Given the description of an element on the screen output the (x, y) to click on. 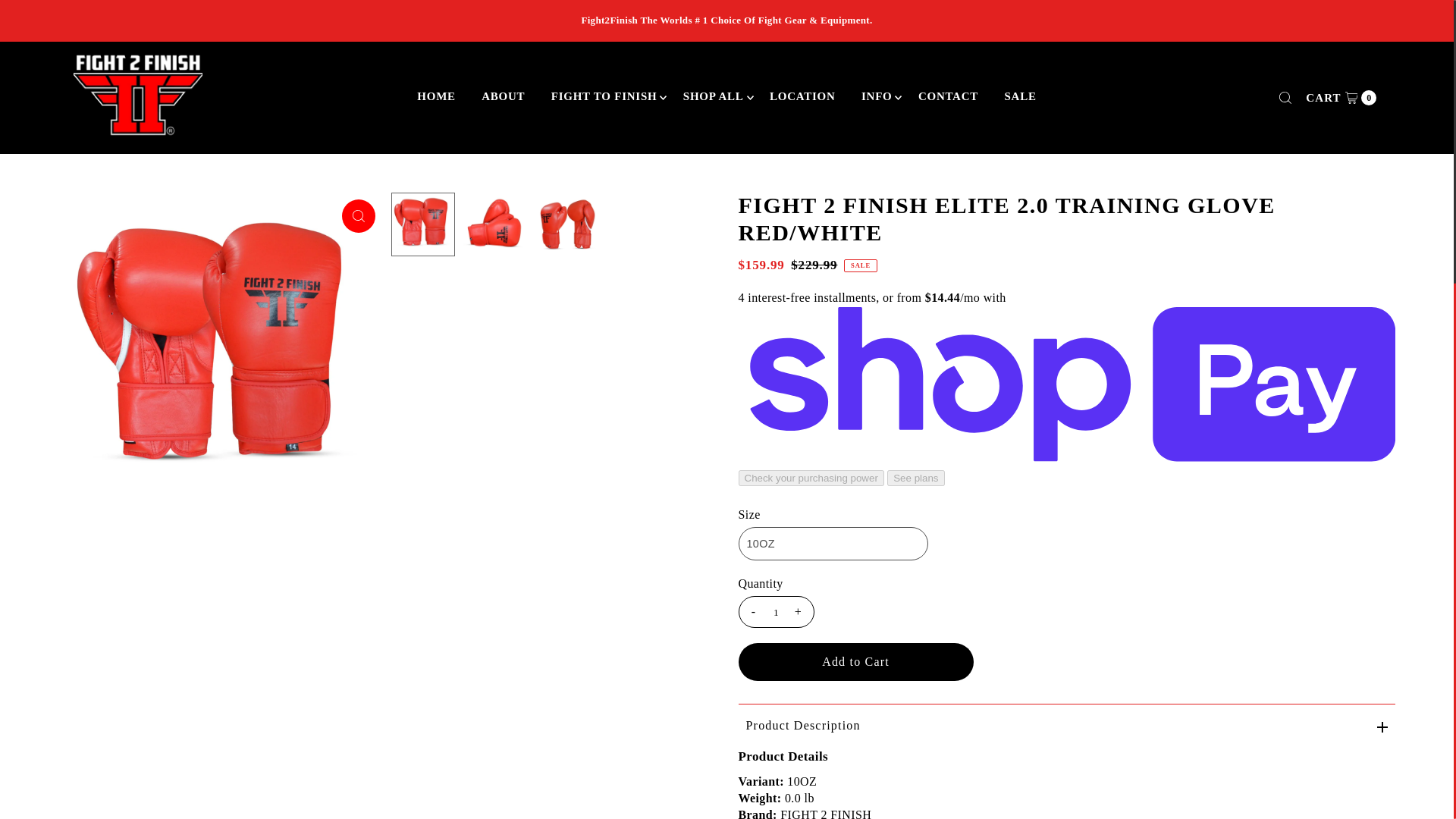
Add to Cart (856, 661)
FIGHT 2 FINISH (825, 813)
HOME (436, 96)
ABOUT (502, 96)
Click to zoom (358, 215)
FIGHT TO FINISH (604, 96)
